Given the description of an element on the screen output the (x, y) to click on. 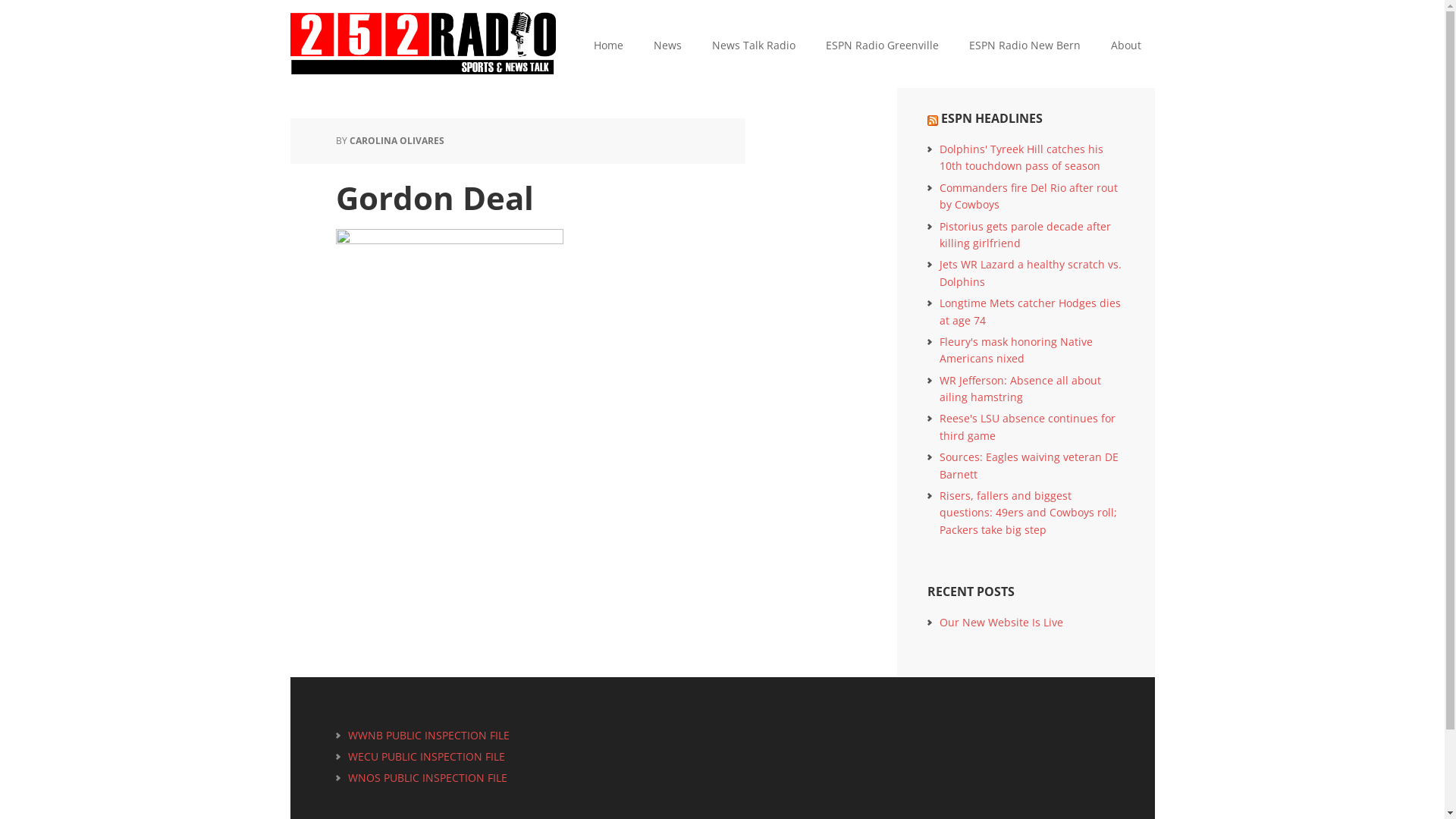
Sources: Eagles waiving veteran DE Barnett Element type: text (1027, 464)
Commanders fire Del Rio after rout by Cowboys Element type: text (1027, 195)
WWNB PUBLIC INSPECTION FILE Element type: text (428, 735)
ESPN Radio Greenville Element type: text (881, 44)
Jets WR Lazard a healthy scratch vs. Dolphins Element type: text (1029, 272)
Longtime Mets catcher Hodges dies at age 74 Element type: text (1029, 310)
Pistorius gets parole decade after killing girlfriend Element type: text (1024, 234)
CAROLINA OLIVARES Element type: text (395, 140)
WNOS PUBLIC INSPECTION FILE Element type: text (427, 777)
WECU PUBLIC INSPECTION FILE Element type: text (426, 756)
About Element type: text (1125, 44)
Our New Website Is Live Element type: text (1000, 622)
ESPN Radio New Bern Element type: text (1024, 44)
WR Jefferson: Absence all about ailing hamstring Element type: text (1019, 388)
Home Element type: text (607, 44)
Fleury's mask honoring Native Americans nixed Element type: text (1015, 349)
Reese's LSU absence continues for third game Element type: text (1026, 426)
News Talk Radio Element type: text (752, 44)
ESPN HEADLINES Element type: text (990, 117)
News Element type: text (667, 44)
